Given the description of an element on the screen output the (x, y) to click on. 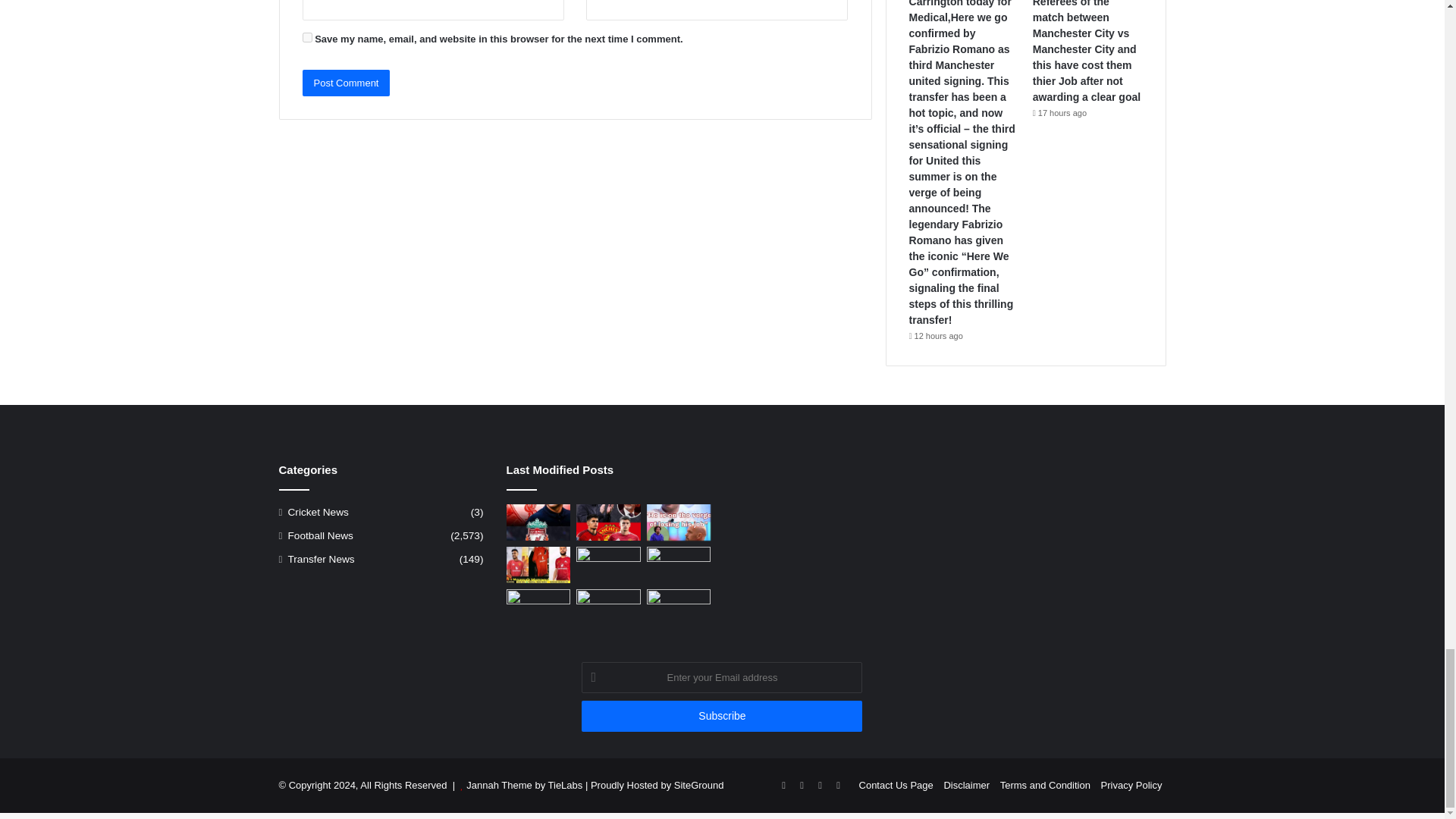
yes (306, 37)
Post Comment (345, 82)
Subscribe (720, 716)
